Given the description of an element on the screen output the (x, y) to click on. 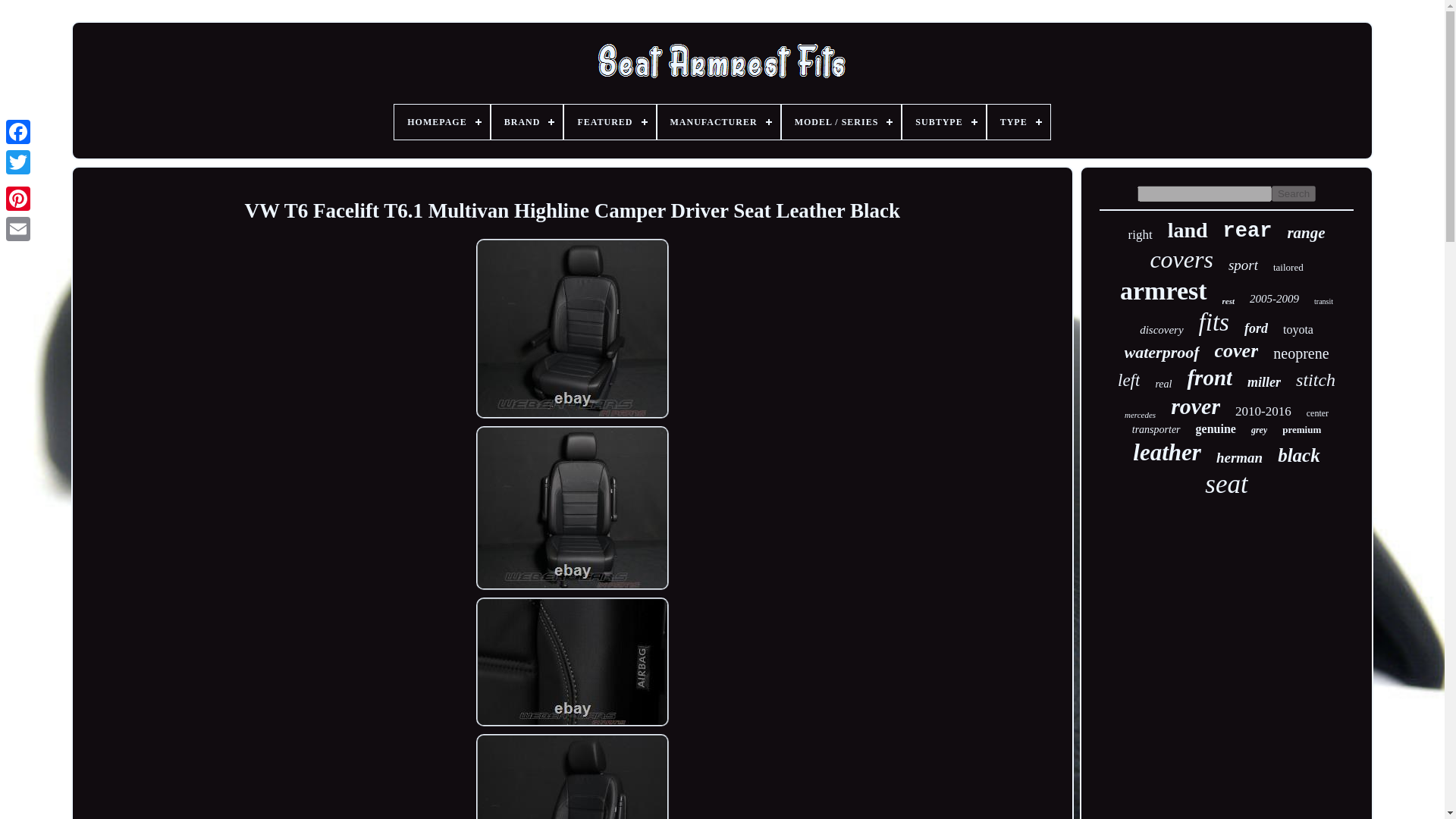
BRAND (527, 121)
Search (1293, 193)
FEATURED (609, 121)
HOMEPAGE (441, 121)
